Given the description of an element on the screen output the (x, y) to click on. 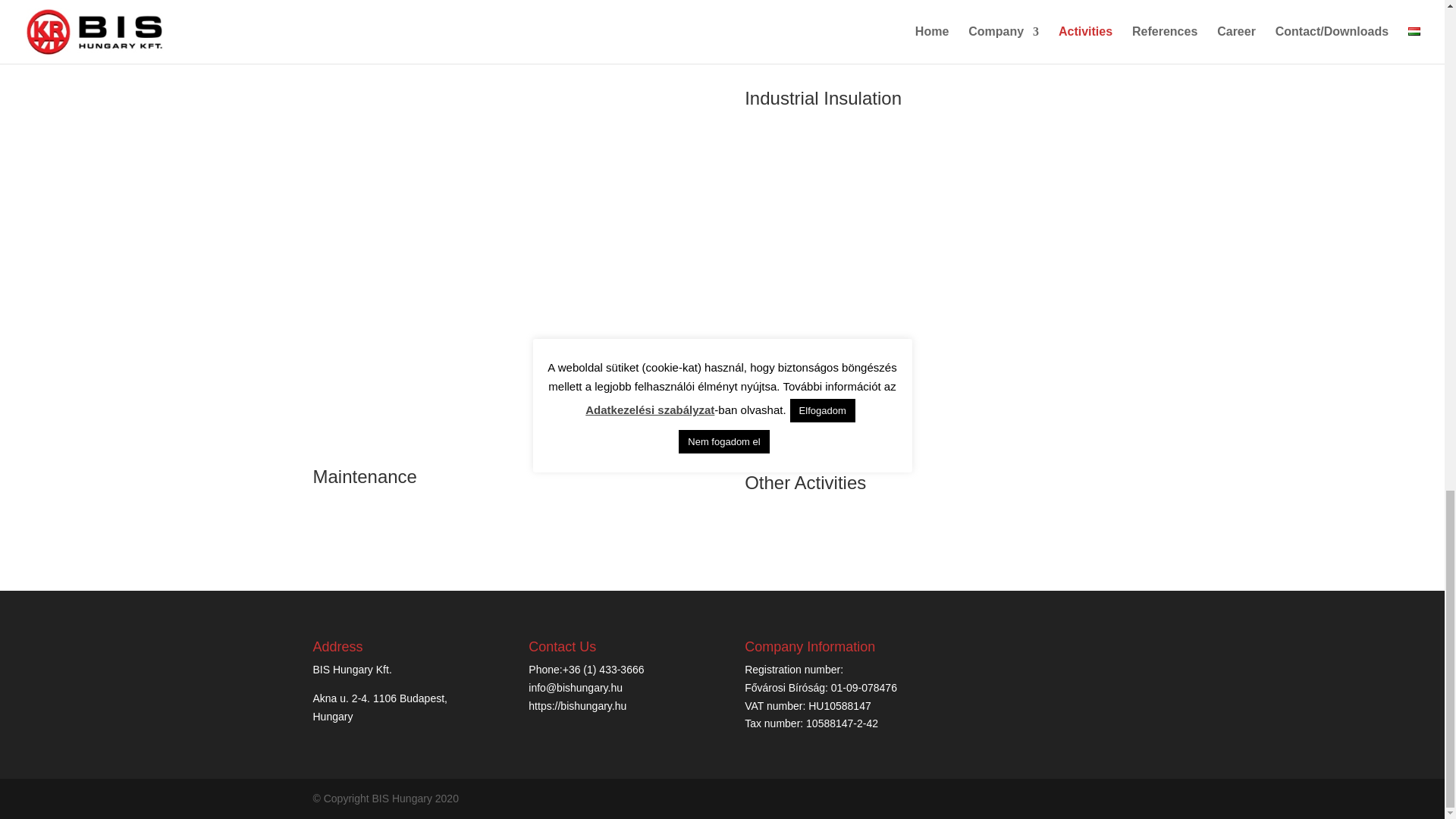
Industrial Insulation (822, 97)
Maintenance (364, 476)
Other Activities (805, 482)
